Given the description of an element on the screen output the (x, y) to click on. 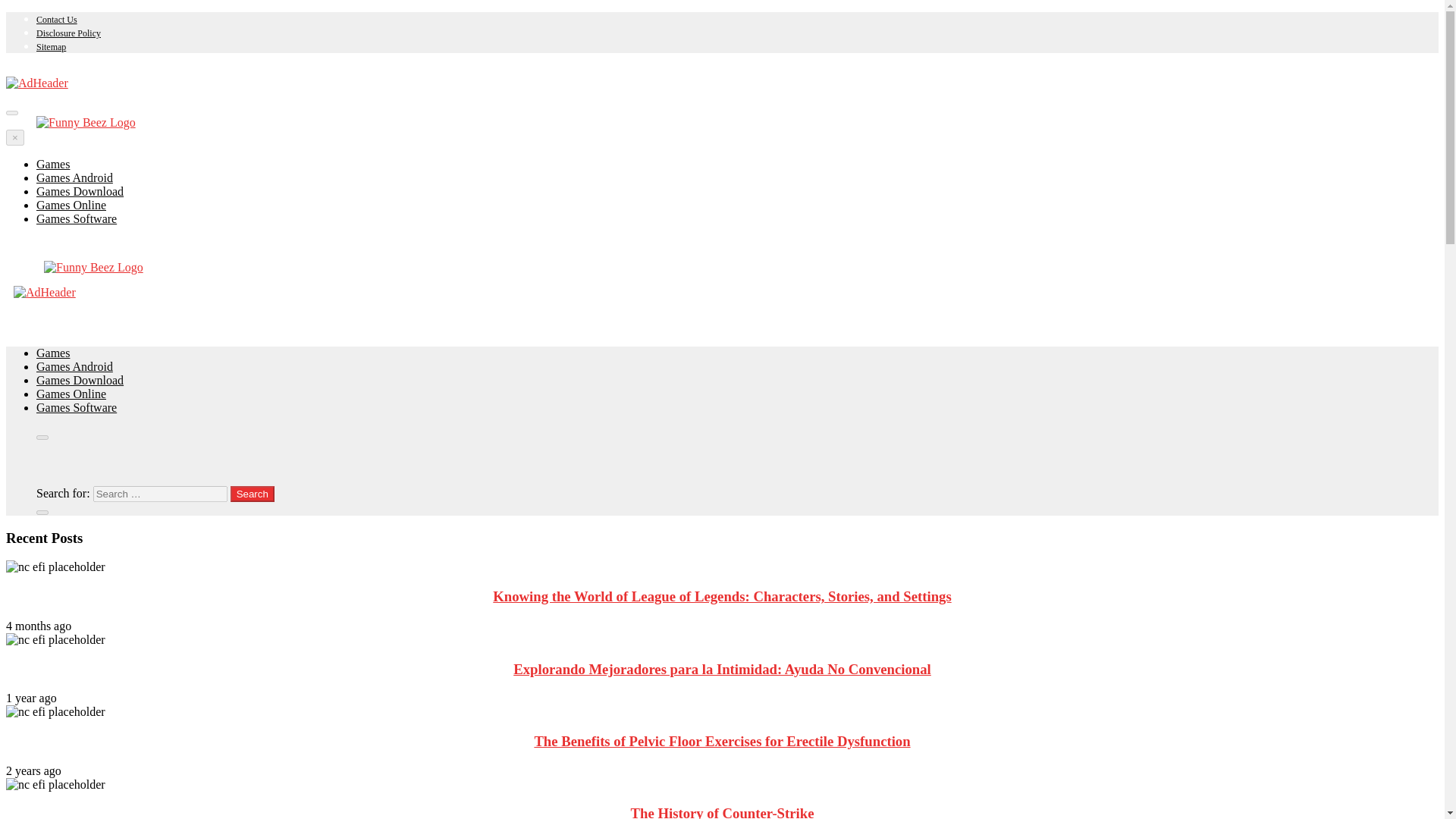
Search (252, 494)
Games Download (79, 379)
Funny Beez (74, 303)
The History of Counter-Strike 4 (54, 784)
Games (52, 164)
Games Online (71, 205)
